Given the description of an element on the screen output the (x, y) to click on. 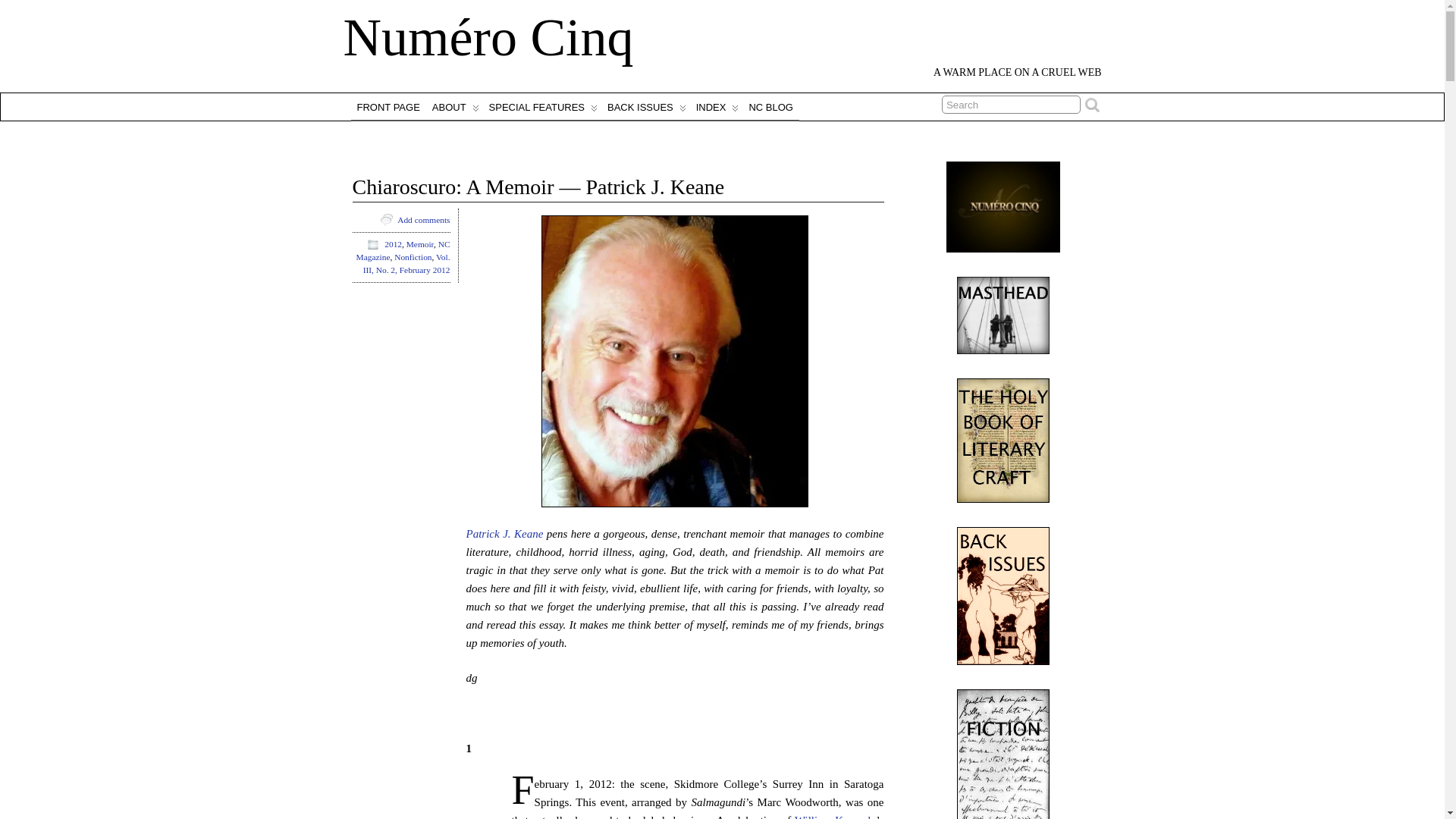
Search (1011, 104)
 ABOUT (454, 106)
NC BLOG (770, 106)
 SPECIAL FEATURES (542, 106)
 BACK ISSUES (645, 106)
 INDEX (716, 106)
Search (1011, 104)
Patrick J Keane smaller (674, 360)
FRONT PAGE (387, 106)
